Given the description of an element on the screen output the (x, y) to click on. 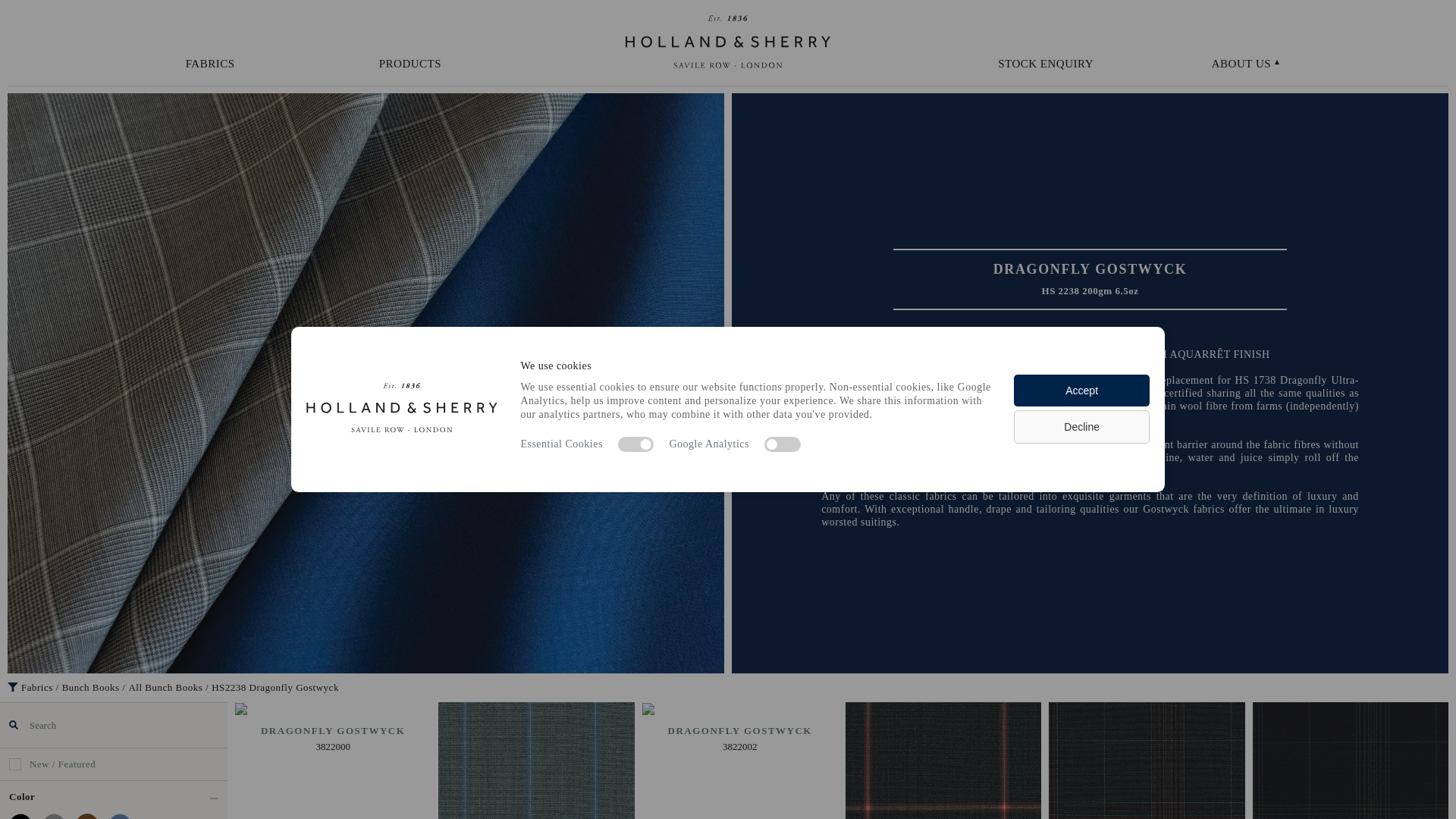
FABRICS (210, 64)
STOCK ENQUIRY (1045, 64)
Fabric (210, 64)
Stock enquiry (1045, 64)
